Given the description of an element on the screen output the (x, y) to click on. 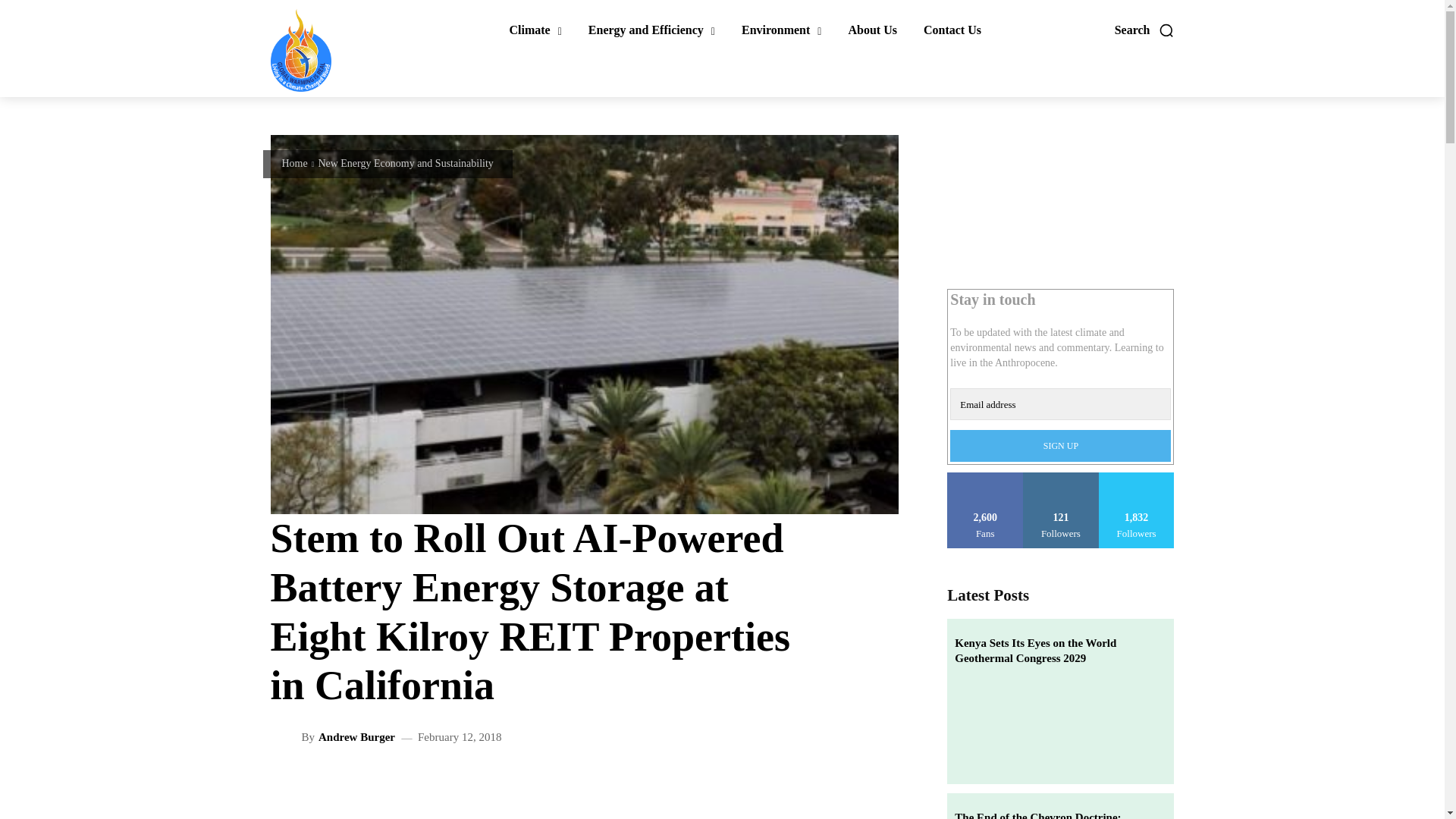
Search (1144, 30)
Climate (534, 30)
